Given the description of an element on the screen output the (x, y) to click on. 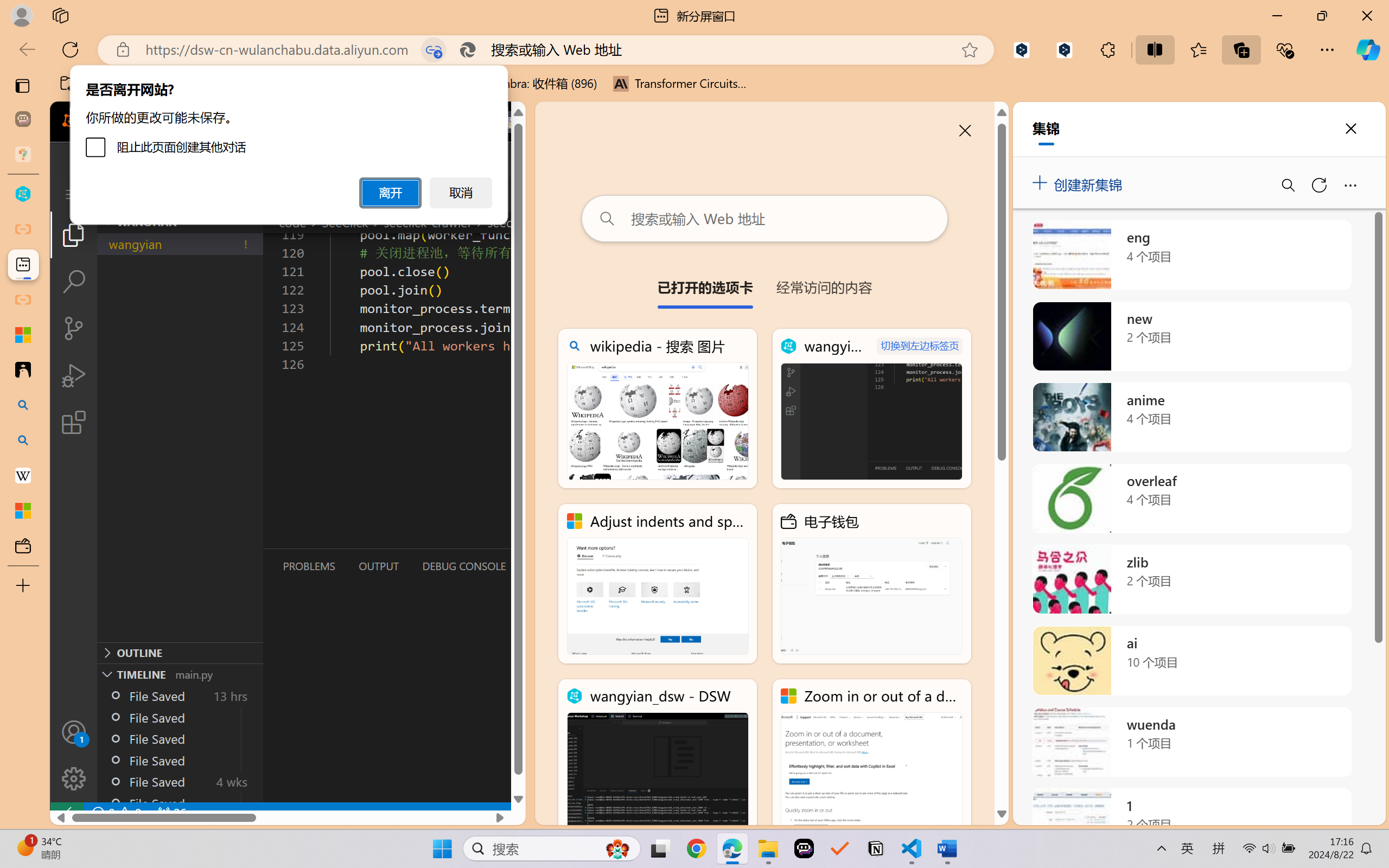
Link Text (381, 74)
Color & Contrast (213, 91)
Check Accessibility (22, 62)
Inspect without Color (191, 62)
Always Use Subtitles (482, 52)
